Given the description of an element on the screen output the (x, y) to click on. 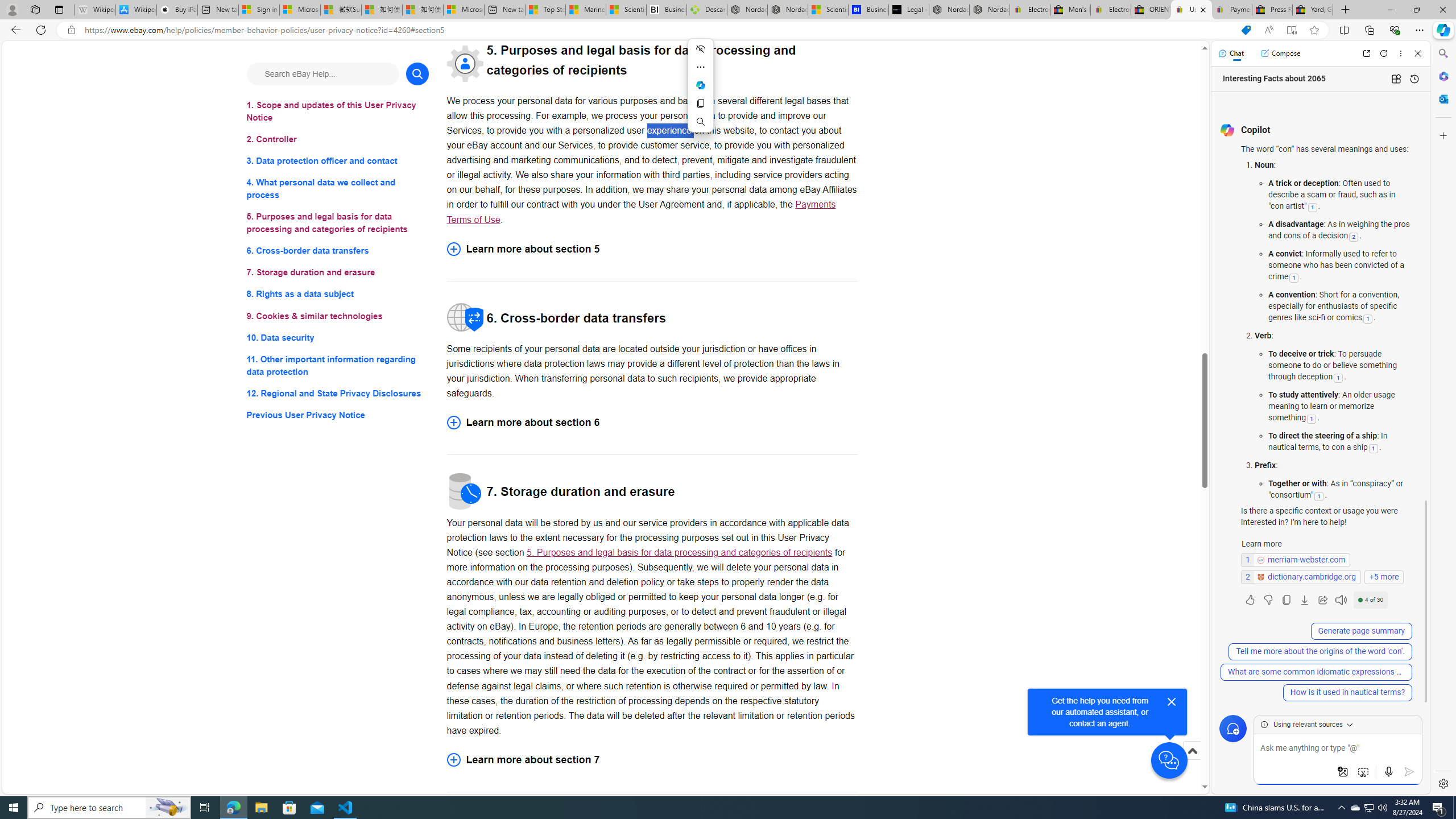
10. Data security (337, 336)
Mini menu on text selection (700, 91)
Sign in to your Microsoft account (258, 9)
Ask Copilot (700, 85)
Marine life - MSN (585, 9)
This site has coupons! Shopping in Microsoft Edge (1245, 29)
3. Data protection officer and contact (337, 160)
4. What personal data we collect and process (337, 189)
Previous User Privacy Notice (337, 414)
